Given the description of an element on the screen output the (x, y) to click on. 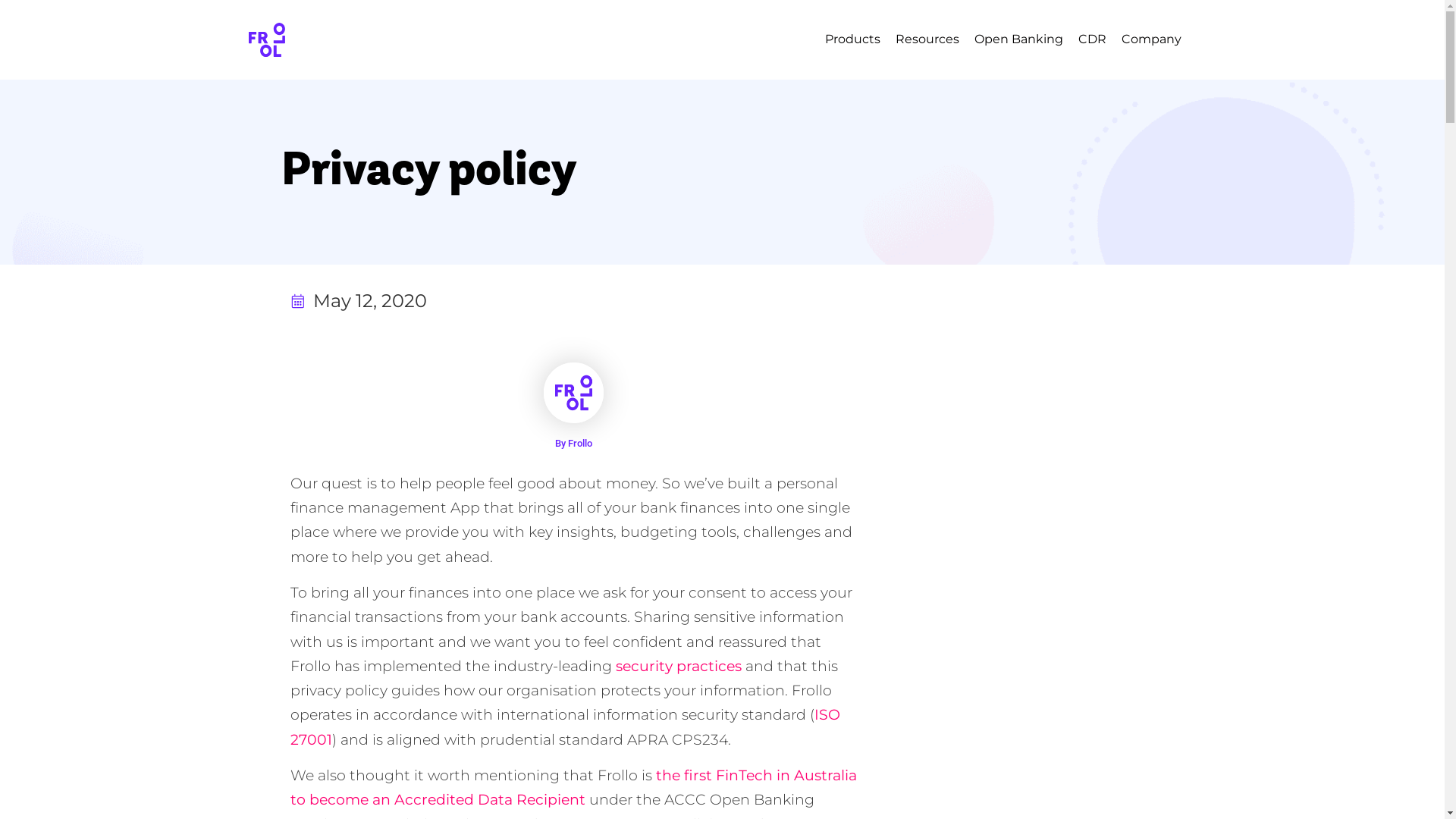
Open Banking Element type: text (1018, 39)
Company Element type: text (1150, 39)
Products Element type: text (852, 39)
security practices Element type: text (678, 665)
Frollo Logo Element type: hover (266, 39)
May 12, 2020 Element type: text (357, 300)
Resources Element type: text (926, 39)
CDR Element type: text (1091, 39)
